Given the description of an element on the screen output the (x, y) to click on. 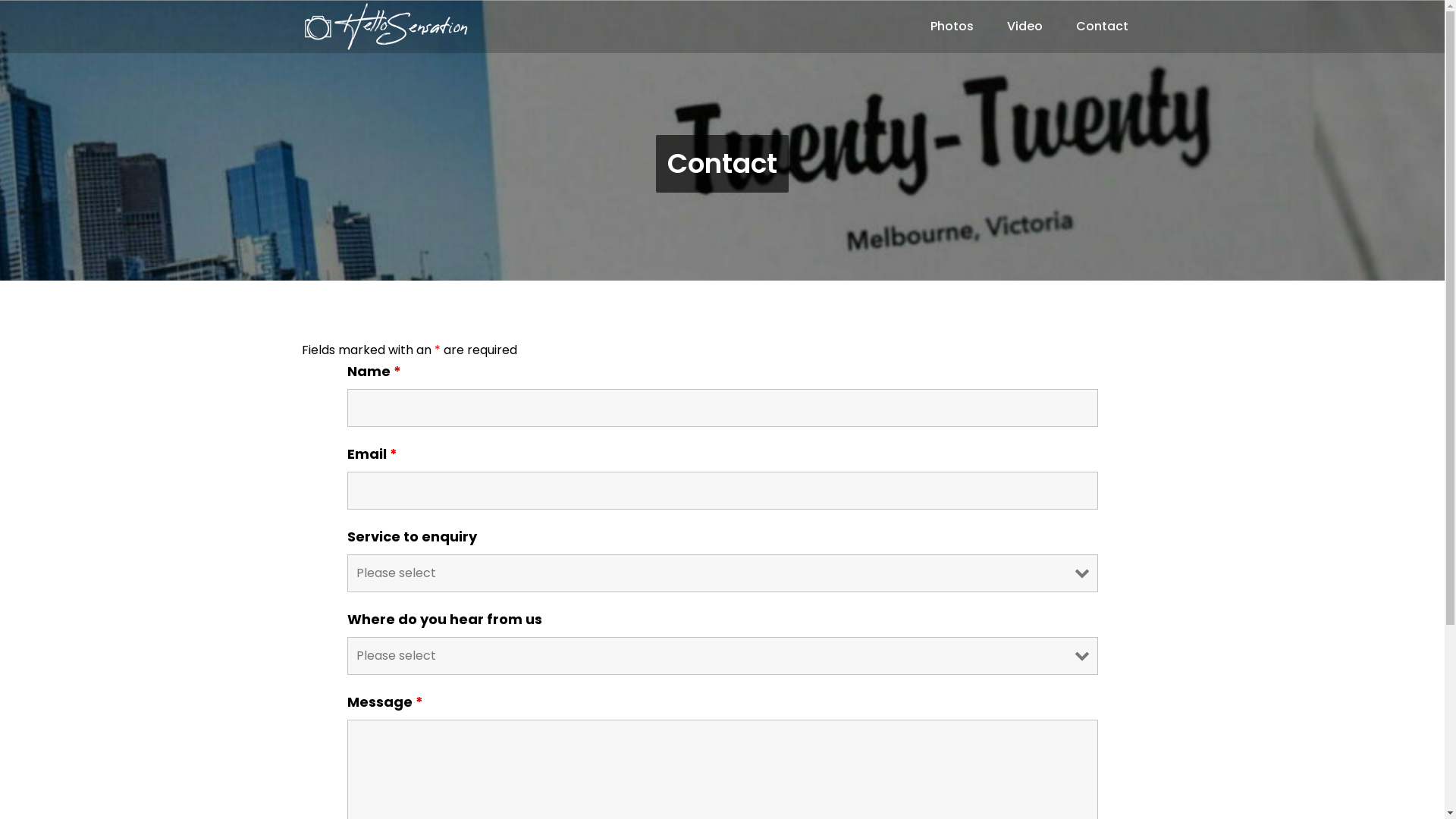
Contact Element type: text (1101, 26)
Photos Element type: text (951, 26)
Video Element type: text (1024, 26)
